Given the description of an element on the screen output the (x, y) to click on. 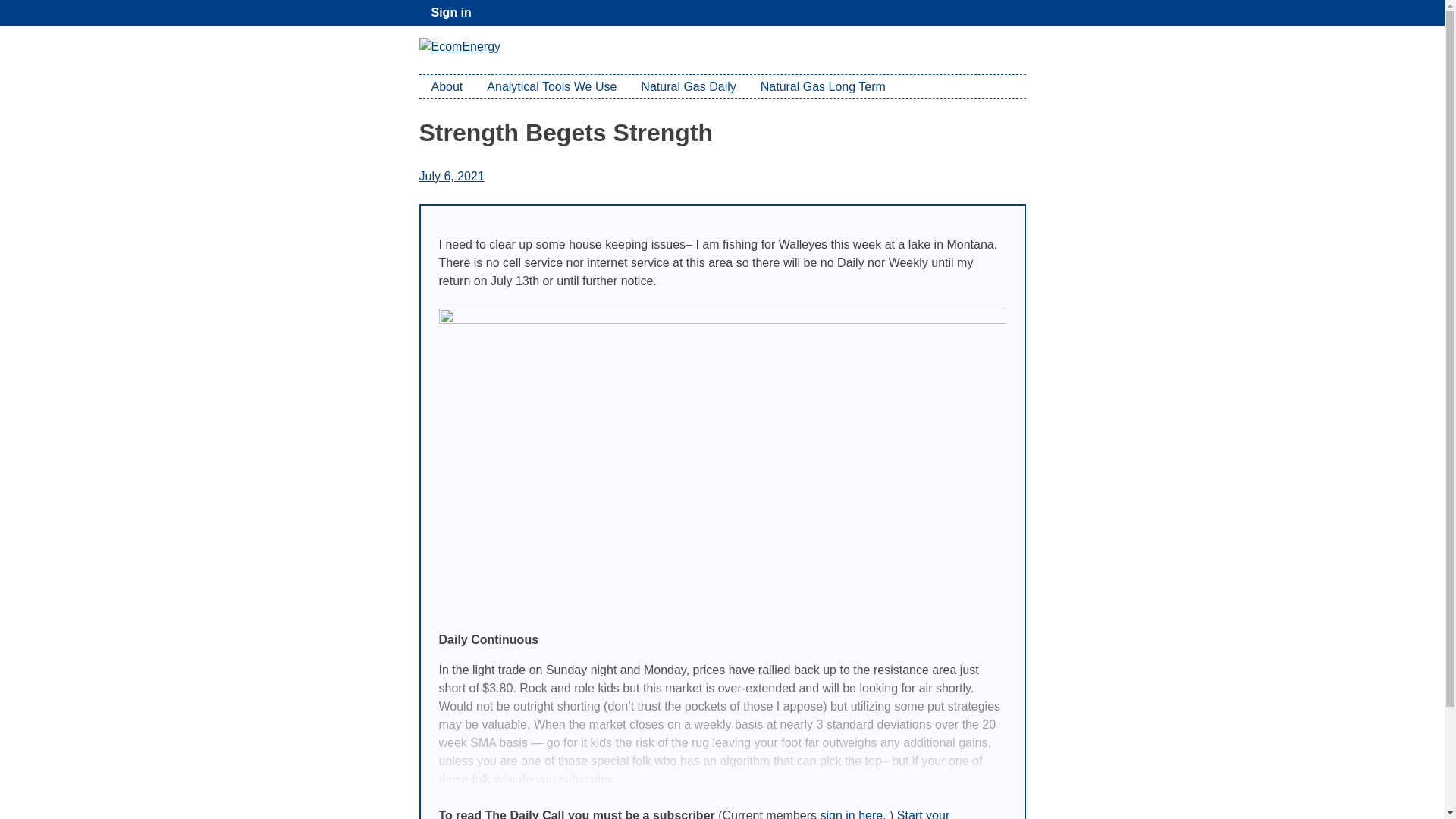
Natural Gas Long Term (823, 86)
Analytical Tools We Use (551, 86)
Natural Gas Daily (688, 86)
Start your subscription today. (693, 814)
About (446, 86)
Sign in (451, 12)
sign in here. (852, 814)
July 6, 2021 (451, 175)
